Given the description of an element on the screen output the (x, y) to click on. 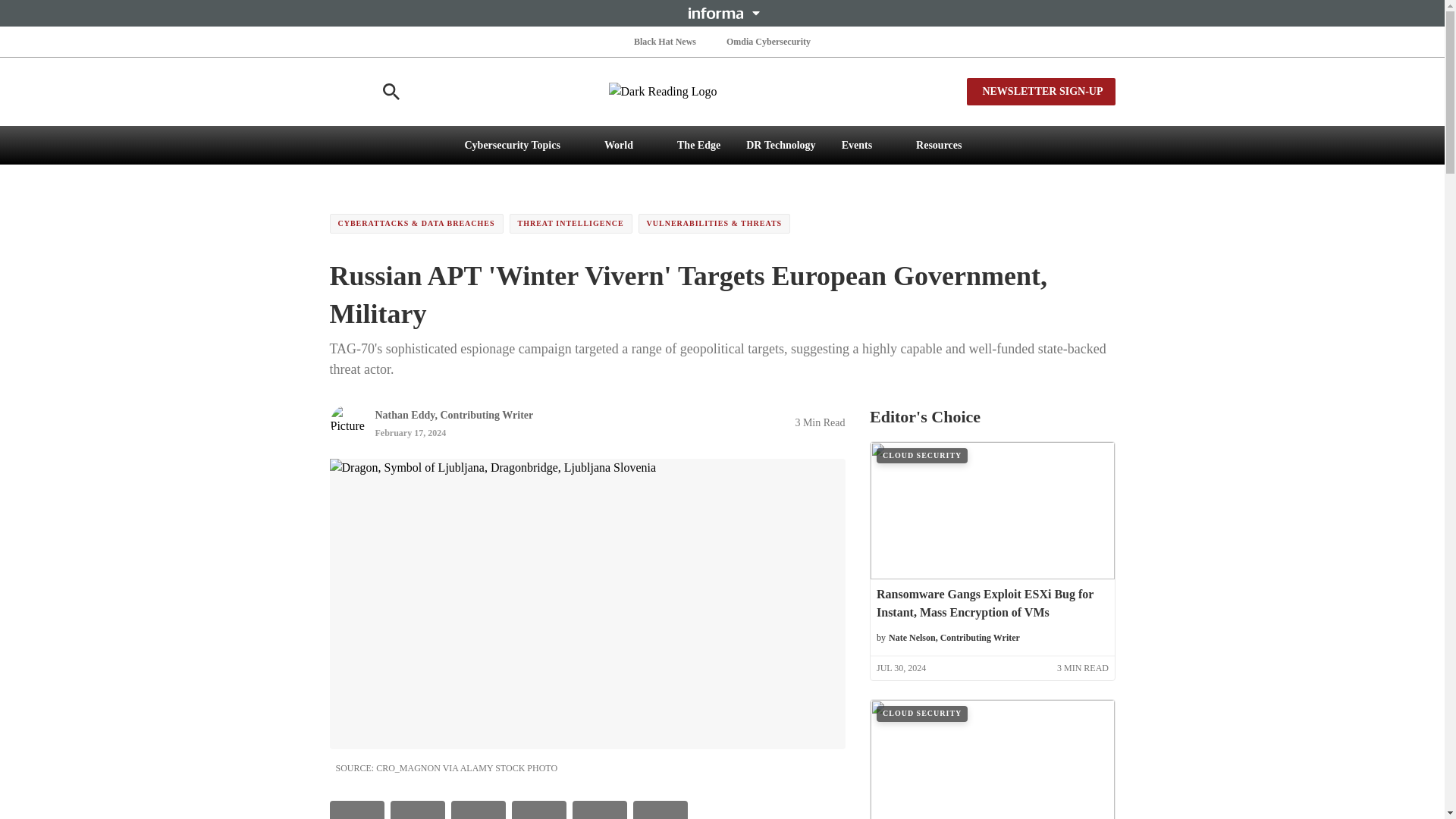
NEWSLETTER SIGN-UP (1040, 90)
Picture of Nathan Eddy, Contributing Writer (347, 422)
Dark Reading Logo (721, 91)
Black Hat News (664, 41)
Omdia Cybersecurity (768, 41)
